Given the description of an element on the screen output the (x, y) to click on. 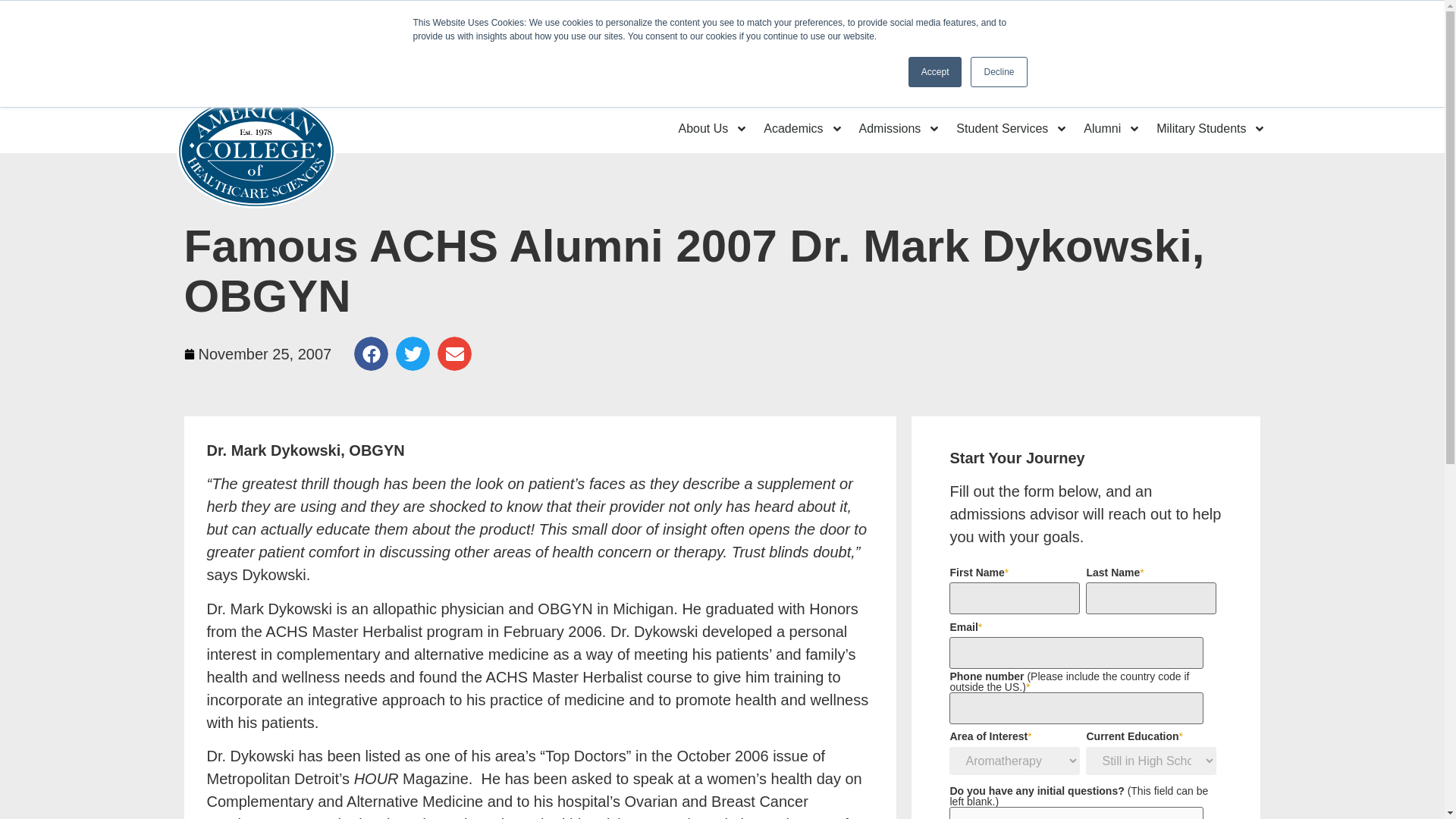
BLOG (910, 18)
Academics (802, 127)
LOGIN (1092, 18)
REGISTER FOR FALL 2024 (760, 18)
Decline (998, 71)
About Us (712, 127)
APPLY NOW (1204, 18)
Accept (935, 71)
SHOP (1000, 18)
APPLY FOR GRADUATION (553, 18)
